Given the description of an element on the screen output the (x, y) to click on. 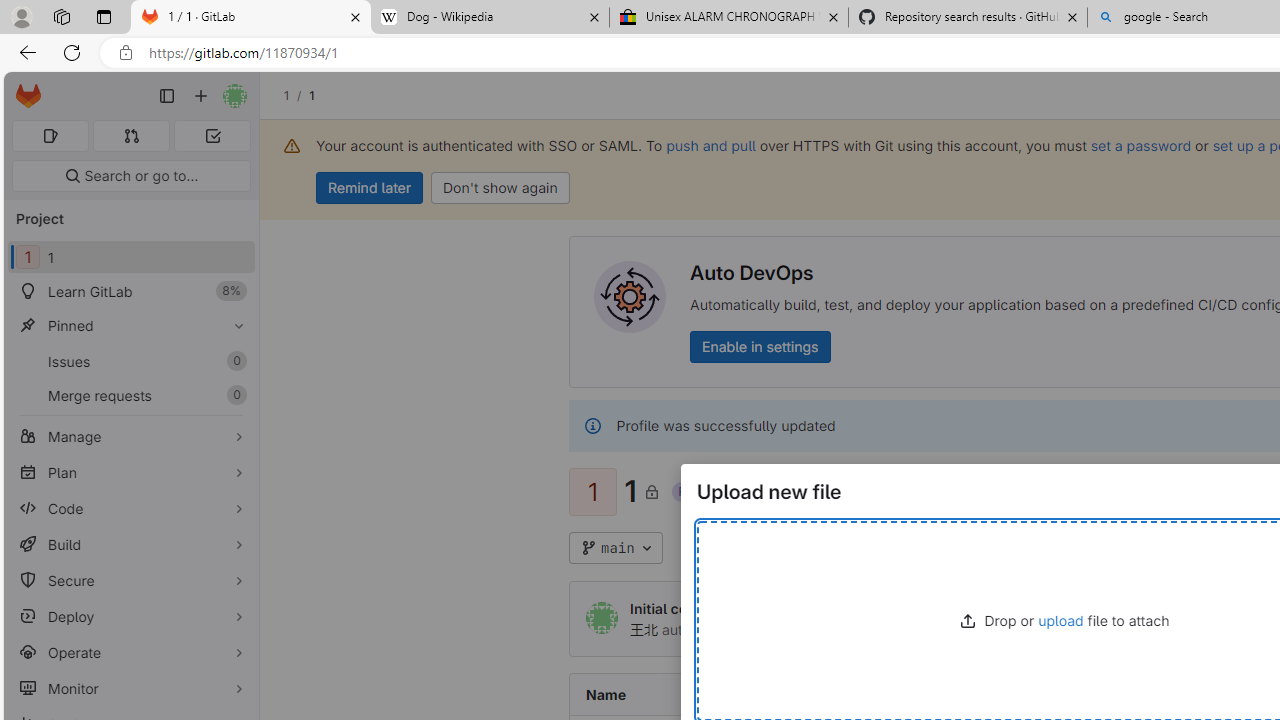
To-Do list 0 (212, 136)
Code (130, 507)
Deploy (130, 615)
Monitor (130, 687)
Code (130, 507)
11 (130, 257)
Learn GitLab8% (130, 291)
Plan (130, 471)
Monitor (130, 687)
Issues 0 (130, 361)
Unpin Issues (234, 361)
set a password (1140, 145)
